Given the description of an element on the screen output the (x, y) to click on. 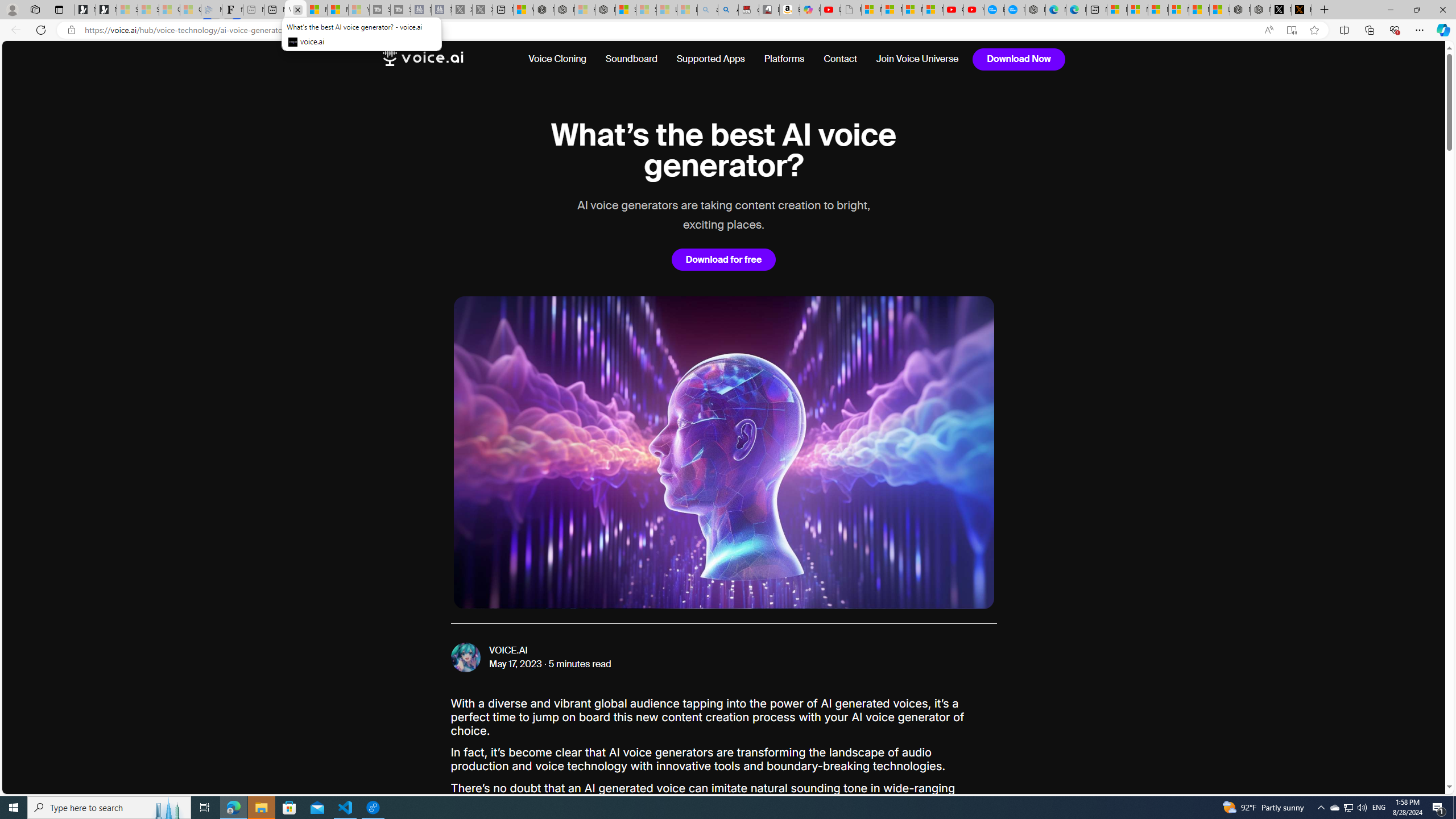
Supported Apps (710, 59)
YouTube Kids - An App Created for Kids to Explore Content (973, 9)
Contact (840, 59)
Download for free (723, 259)
Voice Cloning (561, 59)
Newsletter Sign Up (106, 9)
Nordace - Nordace Siena Is Not An Ordinary Backpack (604, 9)
5 minutes read (579, 663)
